Given the description of an element on the screen output the (x, y) to click on. 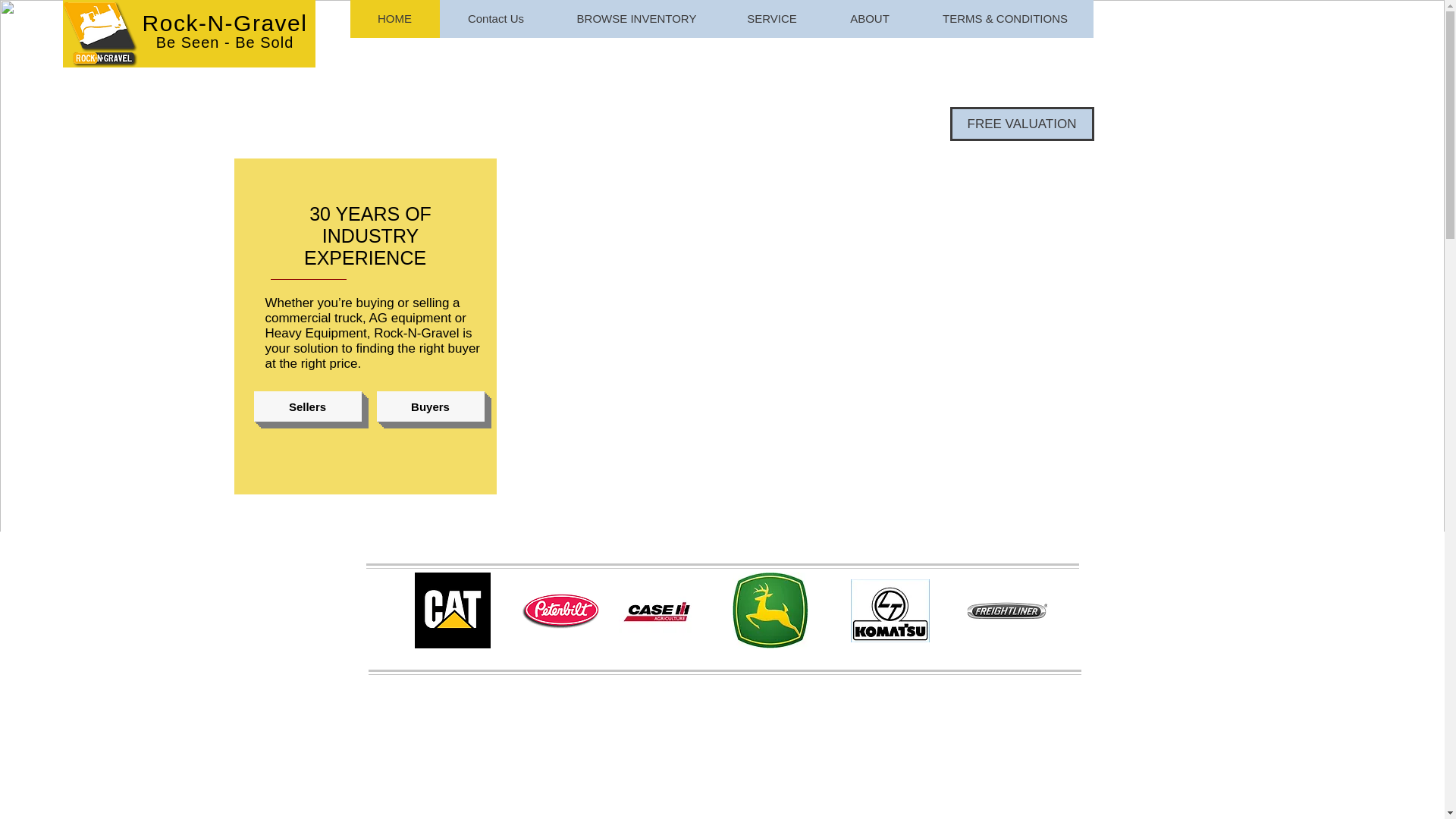
FREE VALUATION (1021, 123)
HOME (394, 18)
Rock-N-Gravel (224, 23)
Contact Us (495, 18)
ABOUT (868, 18)
Buyers (429, 406)
Sellers (307, 406)
